Given the description of an element on the screen output the (x, y) to click on. 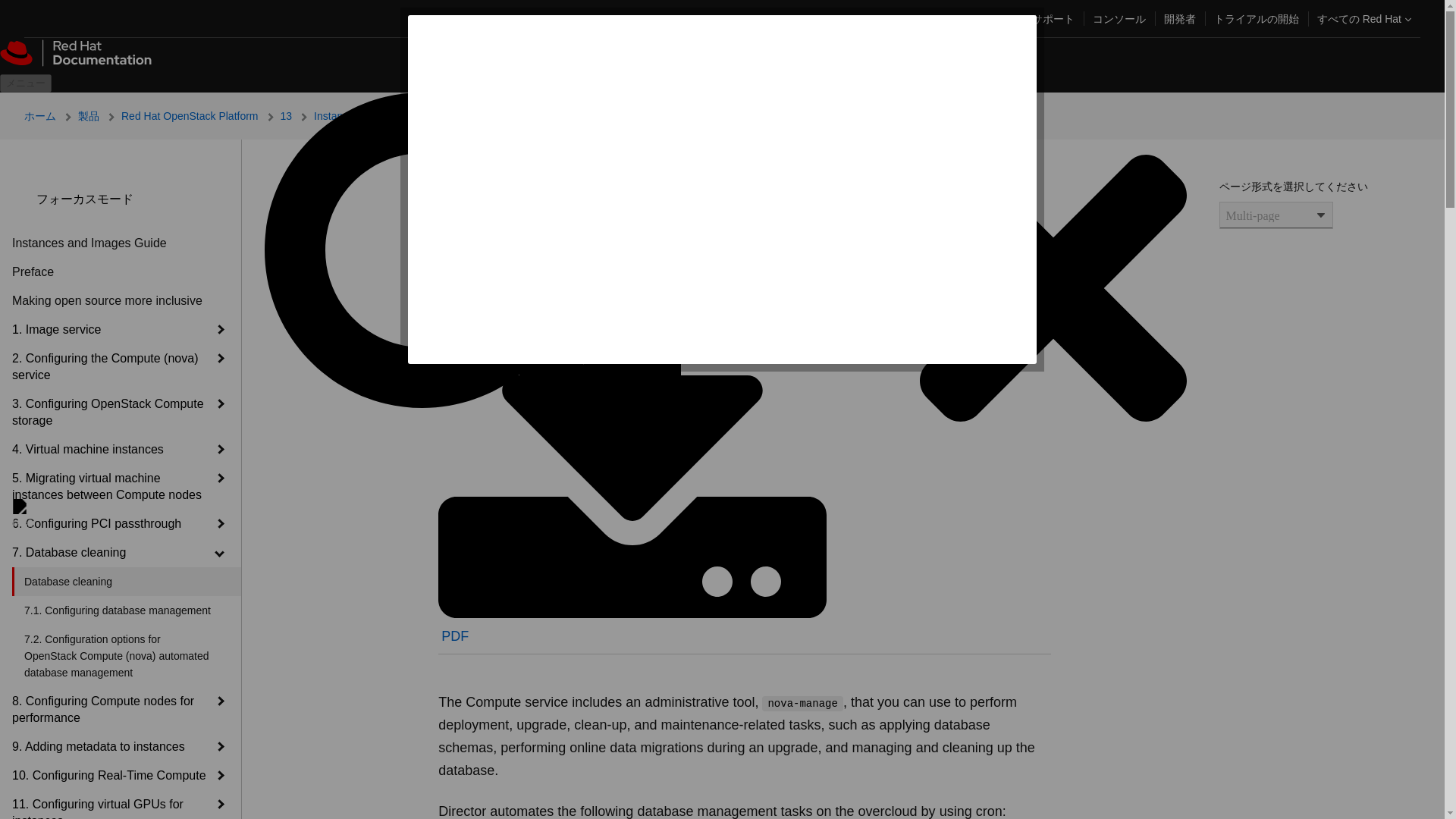
toggle focus mode (23, 199)
